Given the description of an element on the screen output the (x, y) to click on. 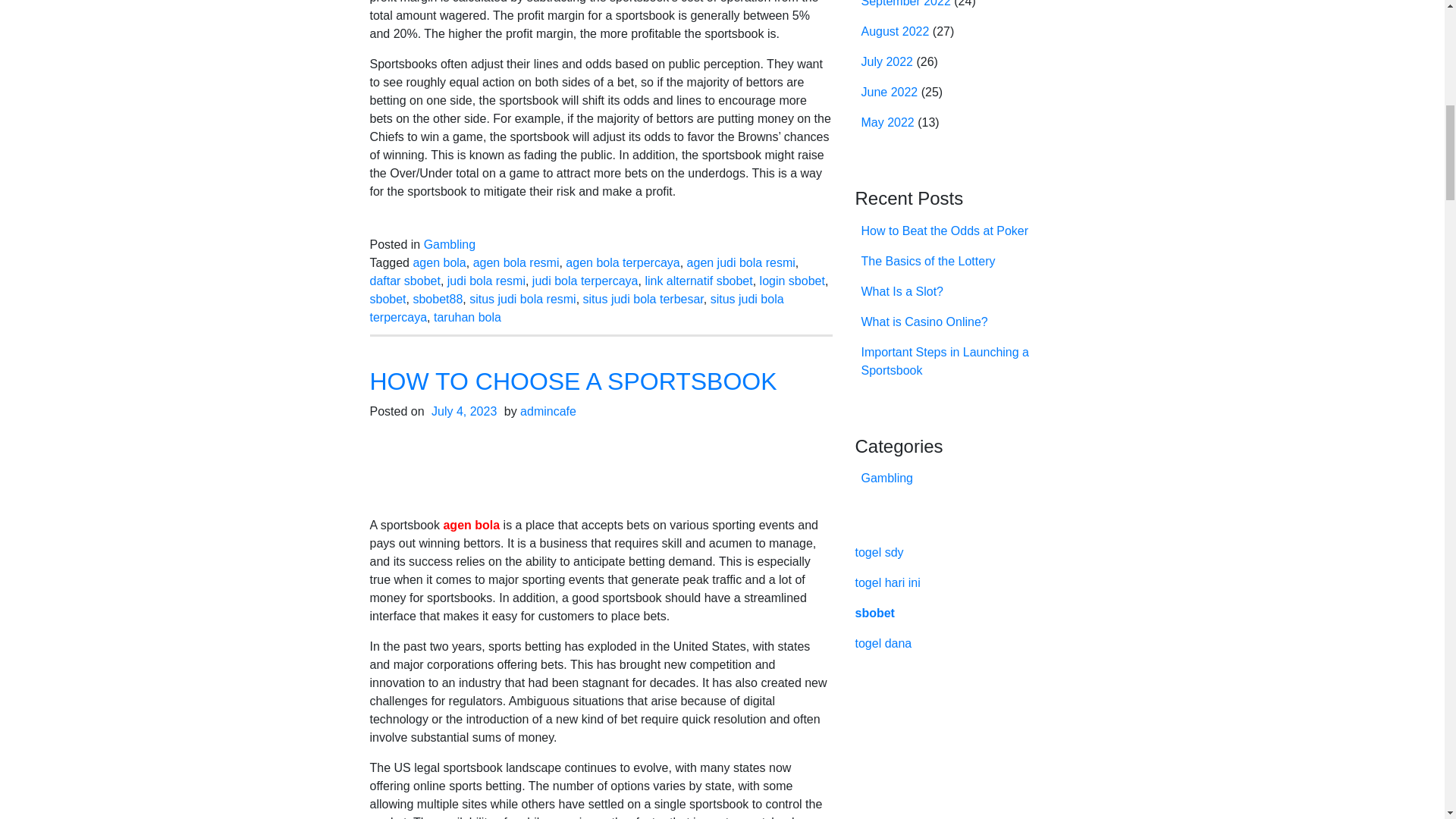
July 4, 2023 (464, 410)
situs judi bola terbesar (643, 298)
agen judi bola resmi (740, 262)
admincafe (547, 410)
situs judi bola resmi (522, 298)
agen bola (470, 524)
sbobet88 (437, 298)
HOW TO CHOOSE A SPORTSBOOK (573, 380)
daftar sbobet (405, 280)
taruhan bola (466, 317)
sbobet (387, 298)
agen bola (438, 262)
link alternatif sbobet (698, 280)
login sbobet (792, 280)
agen bola resmi (516, 262)
